Given the description of an element on the screen output the (x, y) to click on. 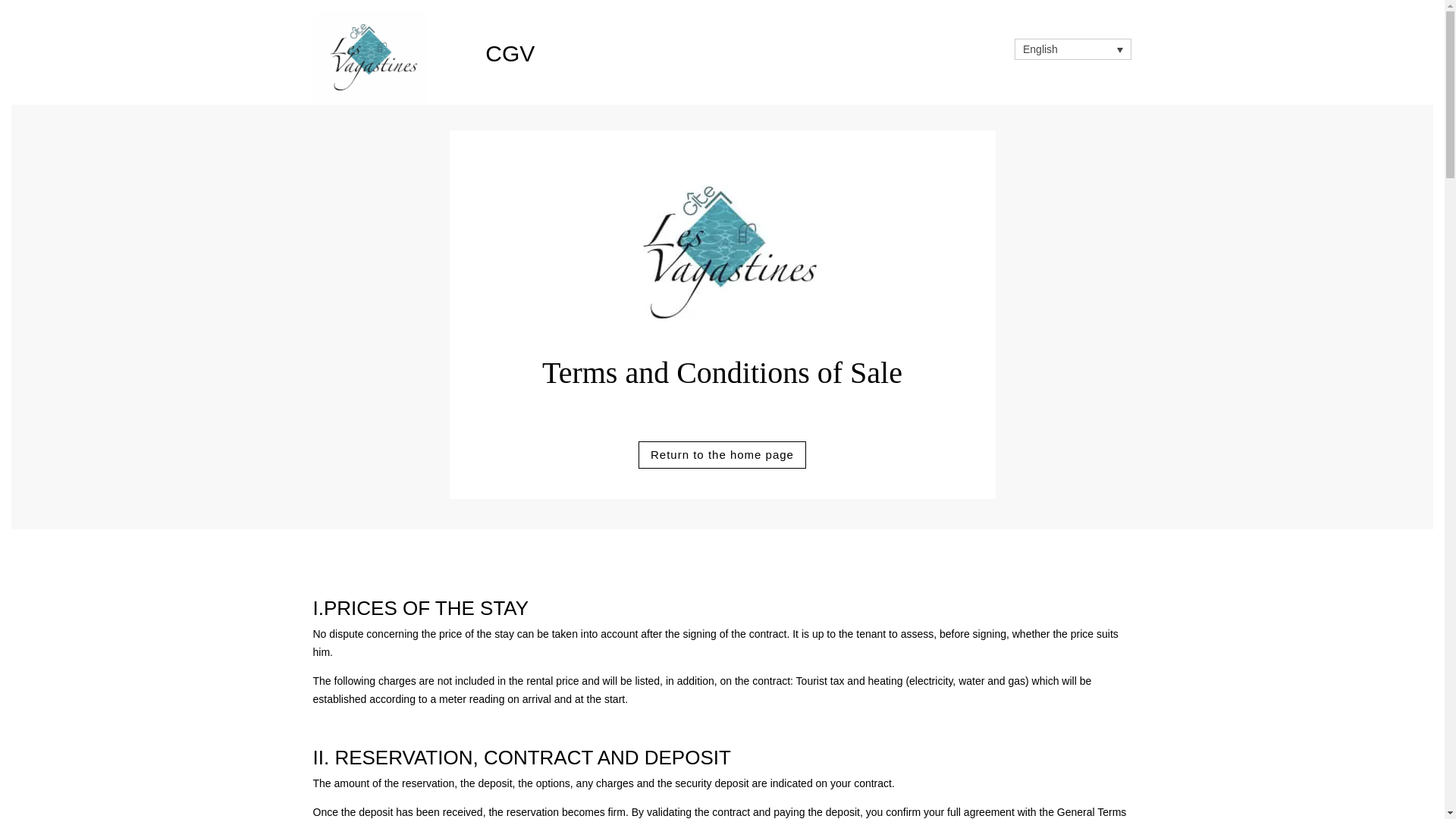
Return to the home page (722, 455)
English (1072, 48)
